Given the description of an element on the screen output the (x, y) to click on. 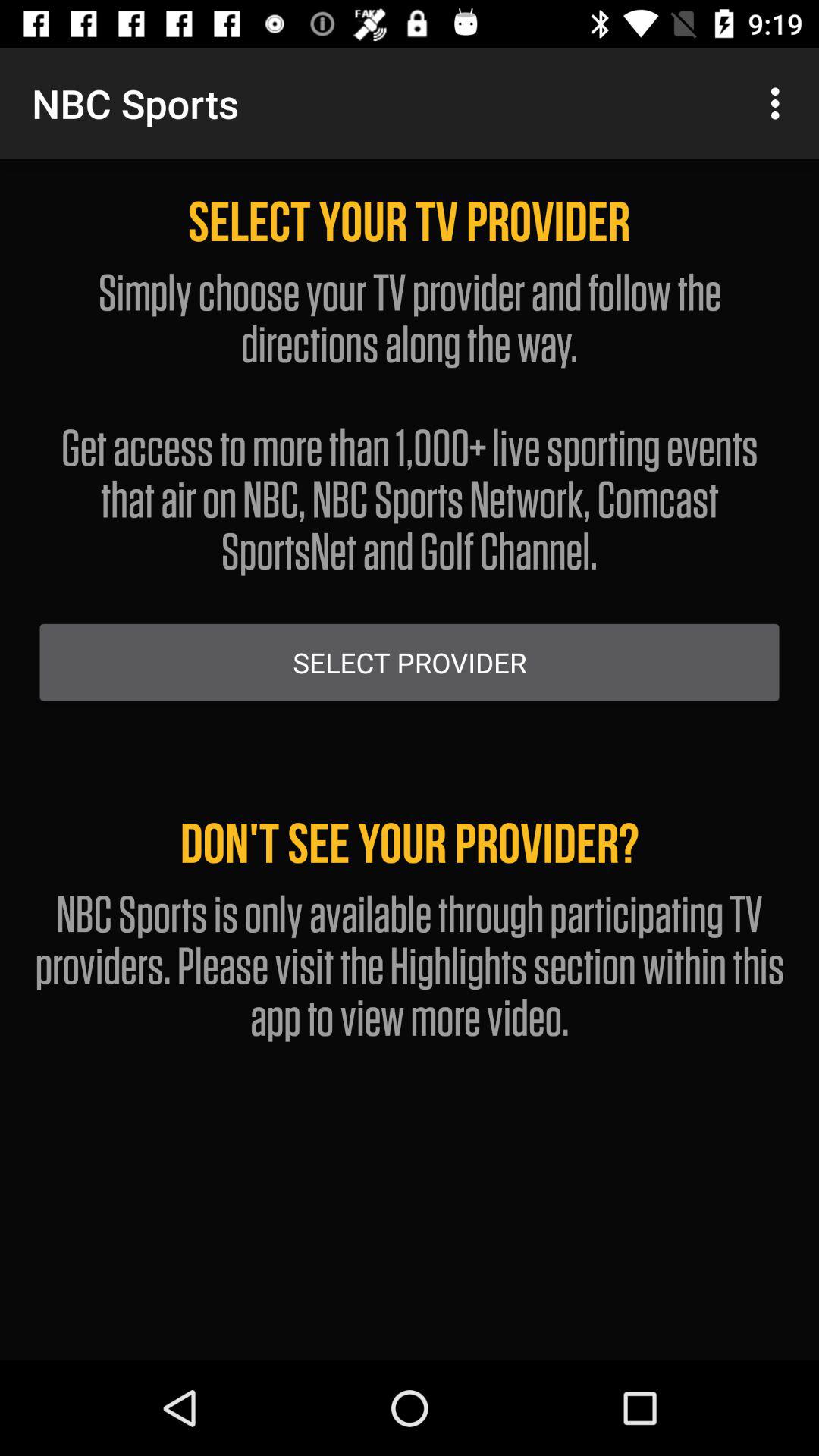
choose app next to the nbc sports app (779, 103)
